Given the description of an element on the screen output the (x, y) to click on. 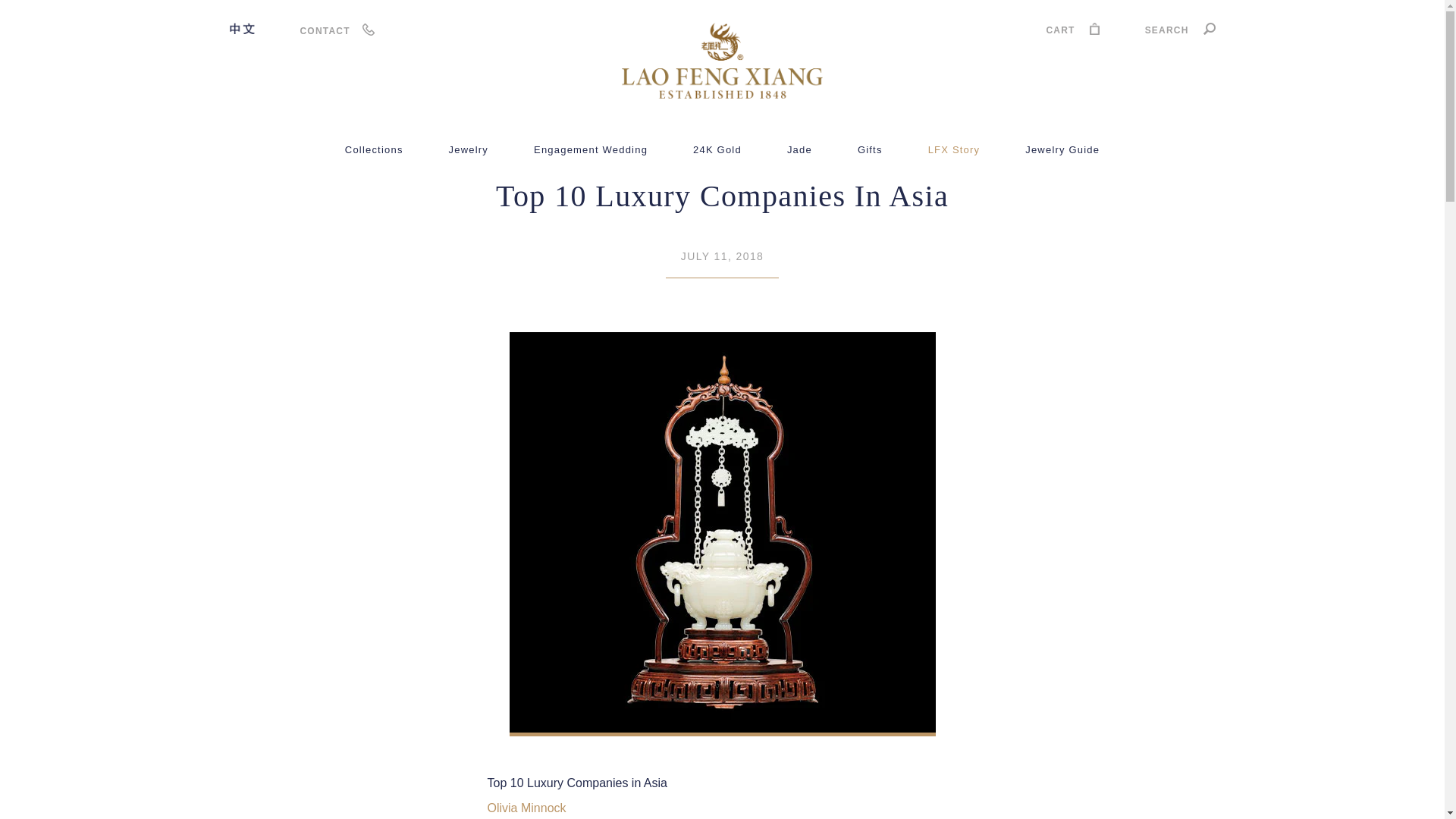
CART (1072, 32)
CONTACT (324, 30)
Collections (374, 149)
Jewelry (467, 149)
SEARCH (1179, 32)
